Given the description of an element on the screen output the (x, y) to click on. 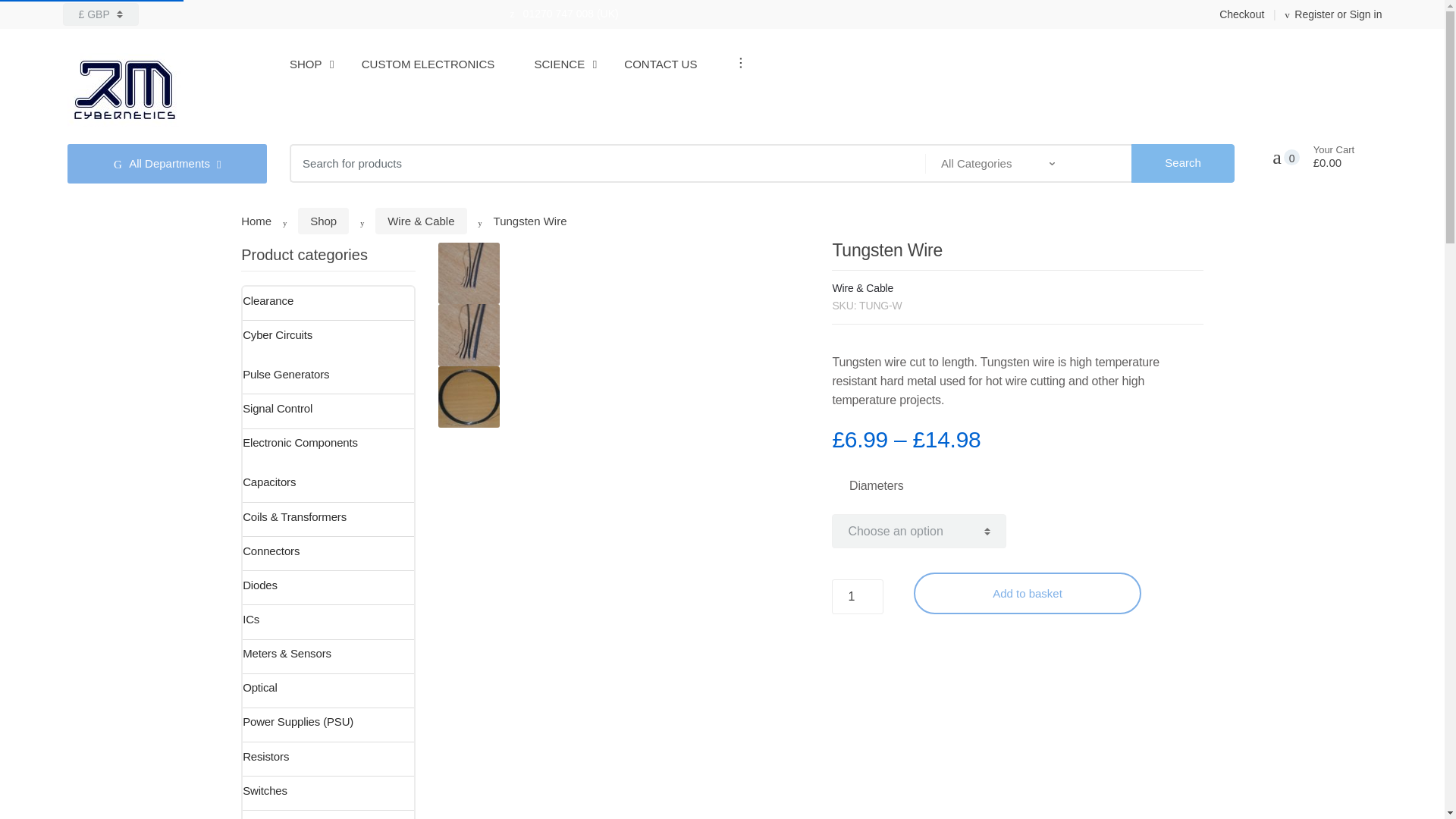
SHOP (305, 63)
1 (857, 596)
SCIENCE (559, 63)
Science (559, 63)
CONTACT US (660, 63)
CUSTOM ELECTRONICS (428, 63)
Checkout (1238, 14)
Search (1182, 163)
Custom Electronics (428, 63)
Register or Sign in (1322, 14)
